Given the description of an element on the screen output the (x, y) to click on. 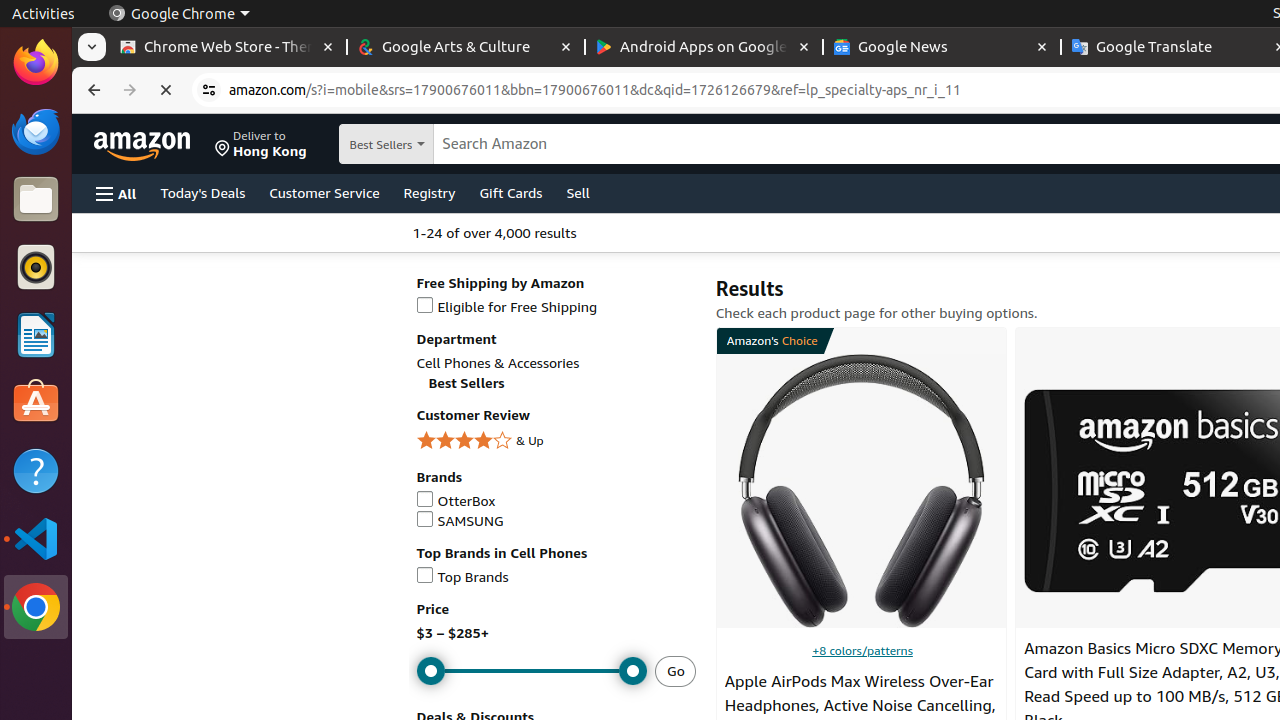
Minimum Element type: slider (532, 671)
Back Element type: push-button (91, 90)
Android Apps on Google Play - Memory usage - 60.6 MB Element type: page-tab (704, 47)
4 Stars & Up Element type: link (556, 441)
Best Sellers Element type: menu-item (401, 141)
